Given the description of an element on the screen output the (x, y) to click on. 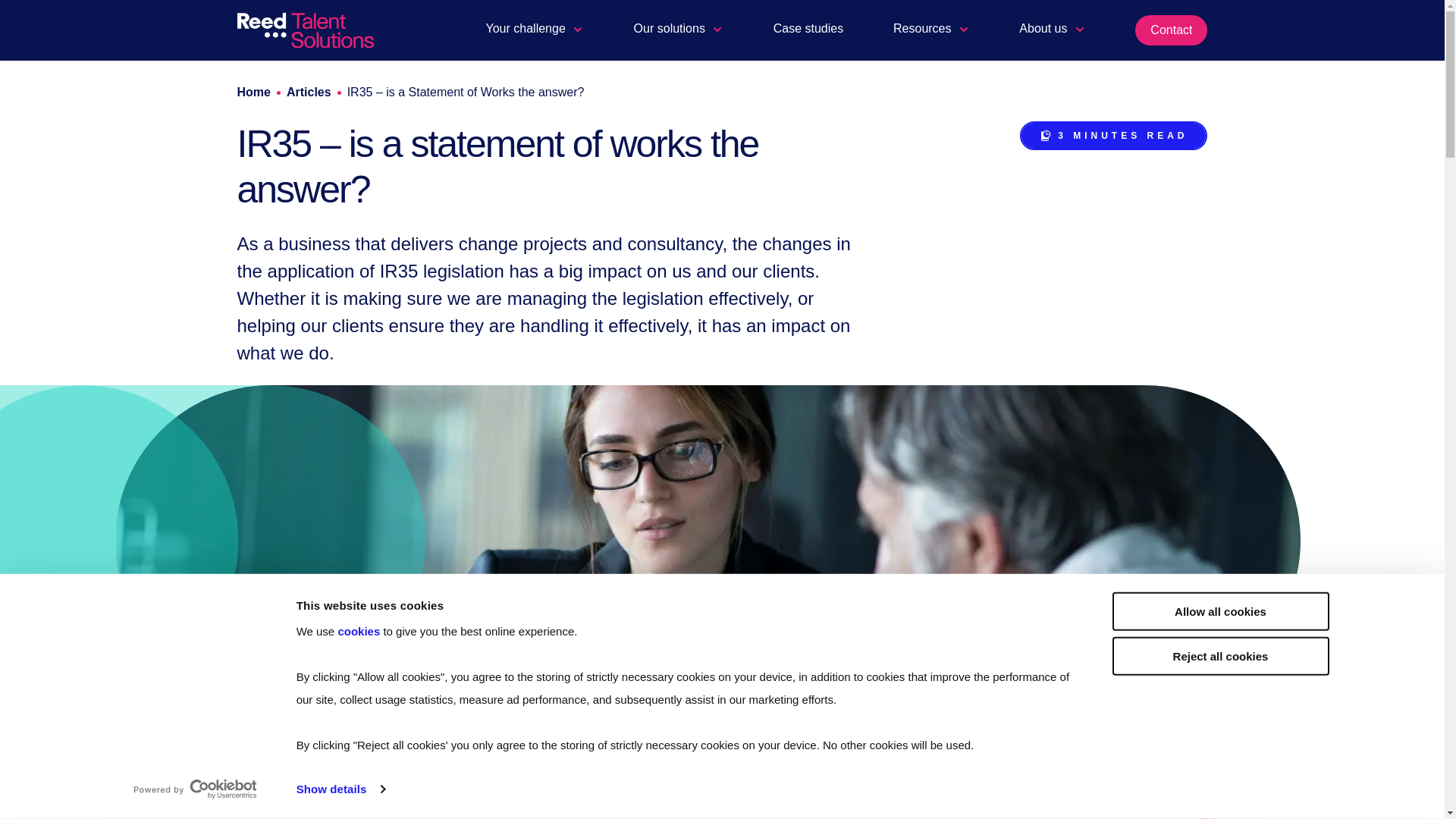
Show details (340, 789)
cookies  (359, 631)
REED logo (303, 30)
